Given the description of an element on the screen output the (x, y) to click on. 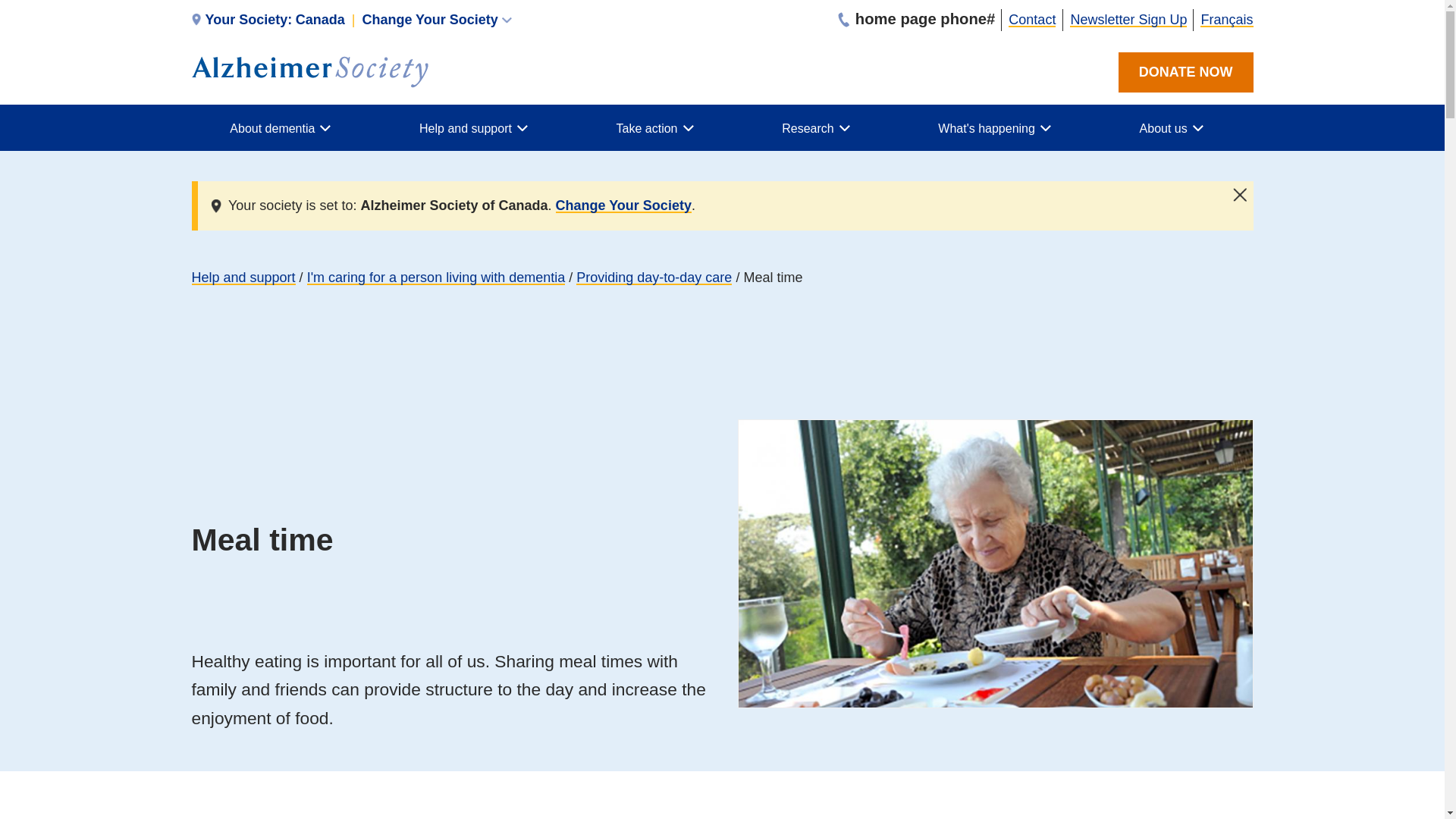
About dementia (285, 127)
DONATE NOW (350, 20)
Newsletter Sign Up (1185, 72)
Contact (1128, 19)
Alzheimer Society of Canada (1032, 19)
Skip to main content (309, 71)
